Given the description of an element on the screen output the (x, y) to click on. 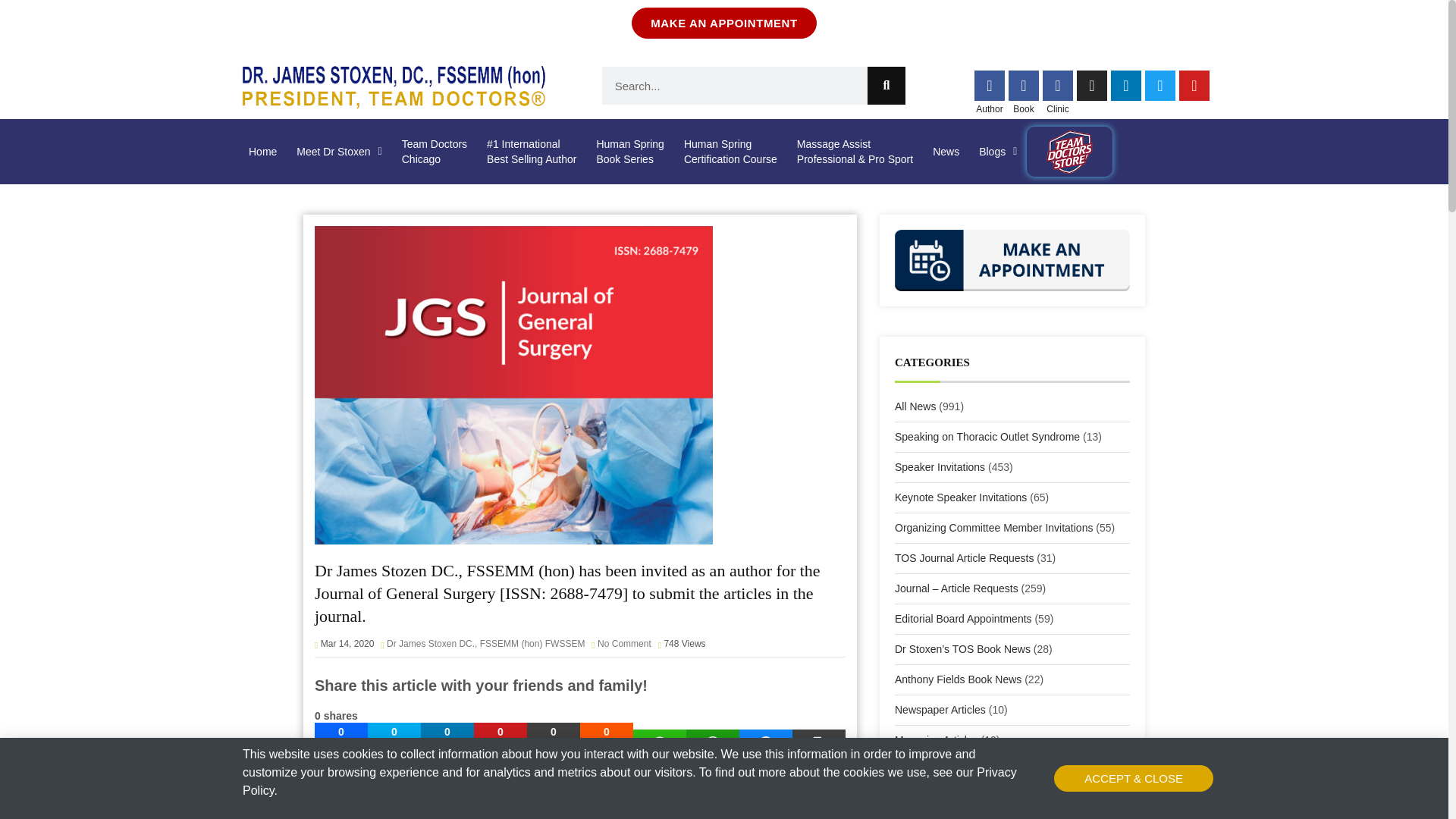
Blogs (997, 151)
News (946, 151)
Share on Pinterest (500, 743)
Home (434, 151)
Share on Twitter (262, 151)
Share on Facebook Messenger (394, 743)
Meet Dr Stoxen (765, 742)
MAKE AN APPOINTMENT (338, 151)
